Given the description of an element on the screen output the (x, y) to click on. 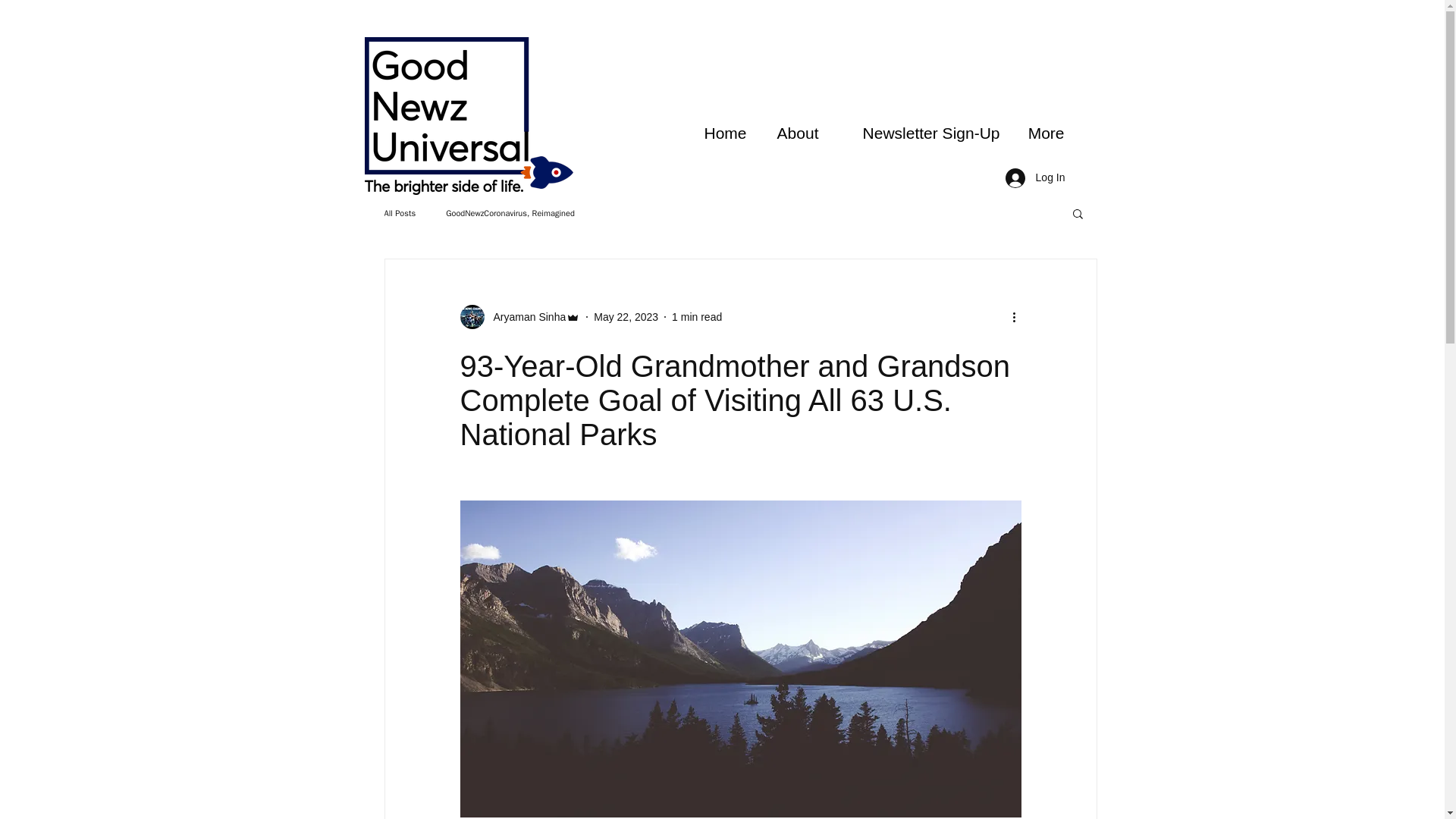
1 min read (696, 316)
Log In (1034, 177)
Home (722, 132)
All Posts (399, 213)
Aryaman Sinha  (524, 317)
Aryaman Sinha (519, 316)
Newsletter Sign-Up (919, 132)
May 22, 2023 (626, 316)
GoodNewzCoronavirus, Reimagined (510, 213)
About (793, 132)
